Given the description of an element on the screen output the (x, y) to click on. 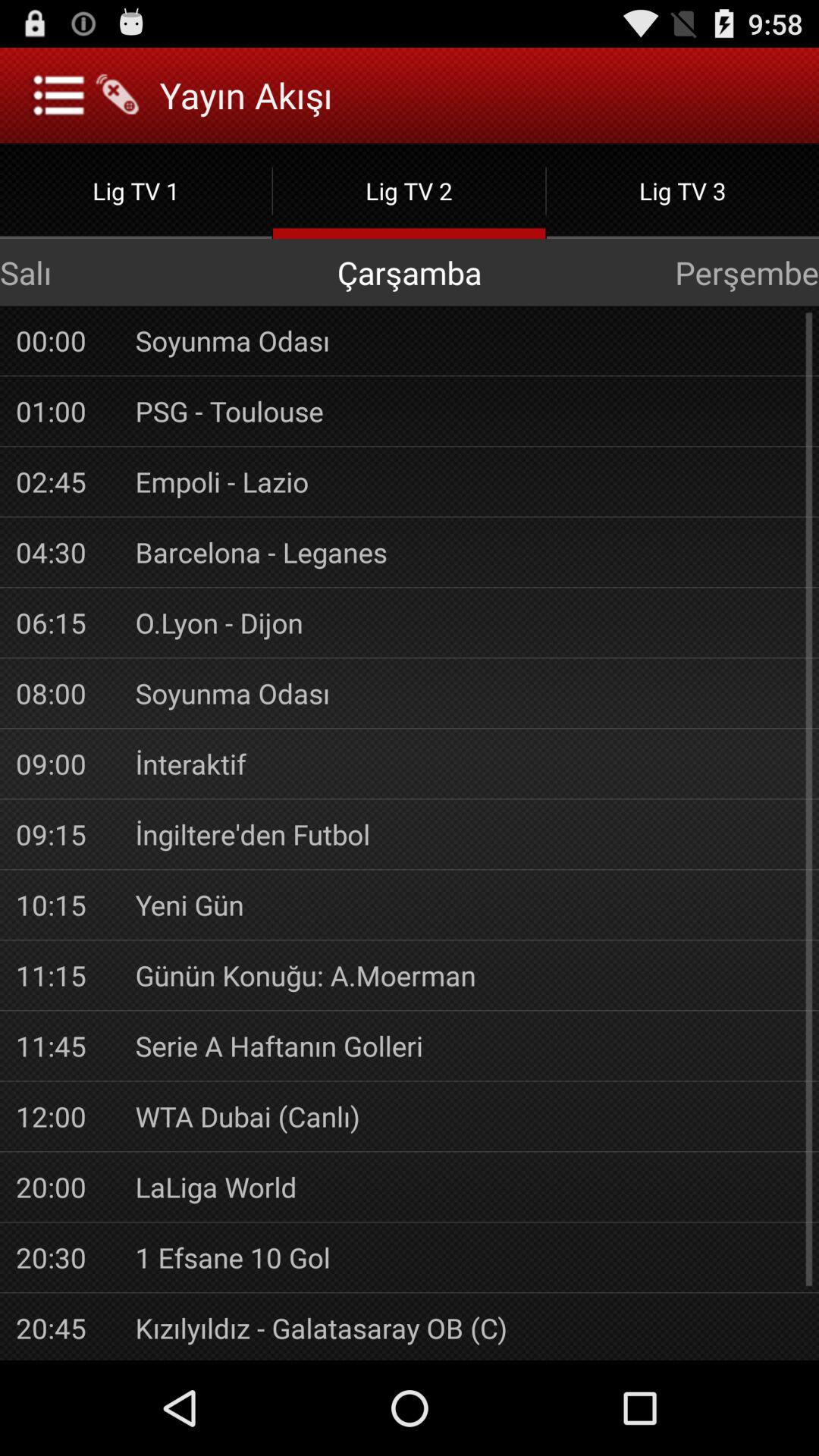
tap the item above o.lyon - dijon item (469, 552)
